Given the description of an element on the screen output the (x, y) to click on. 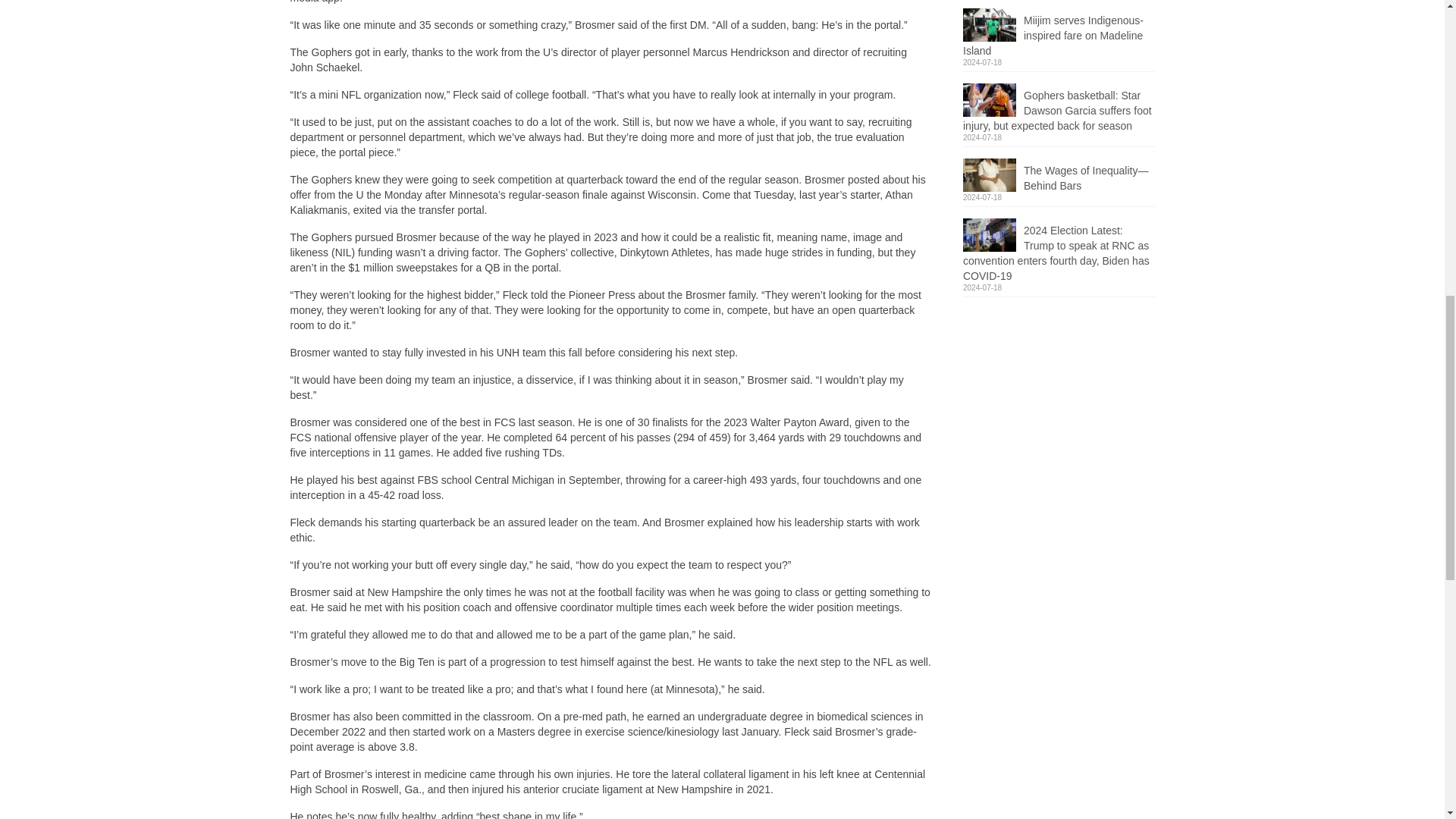
Miijim serves Indigenous-inspired fare on Madeline Island (1058, 33)
